Given the description of an element on the screen output the (x, y) to click on. 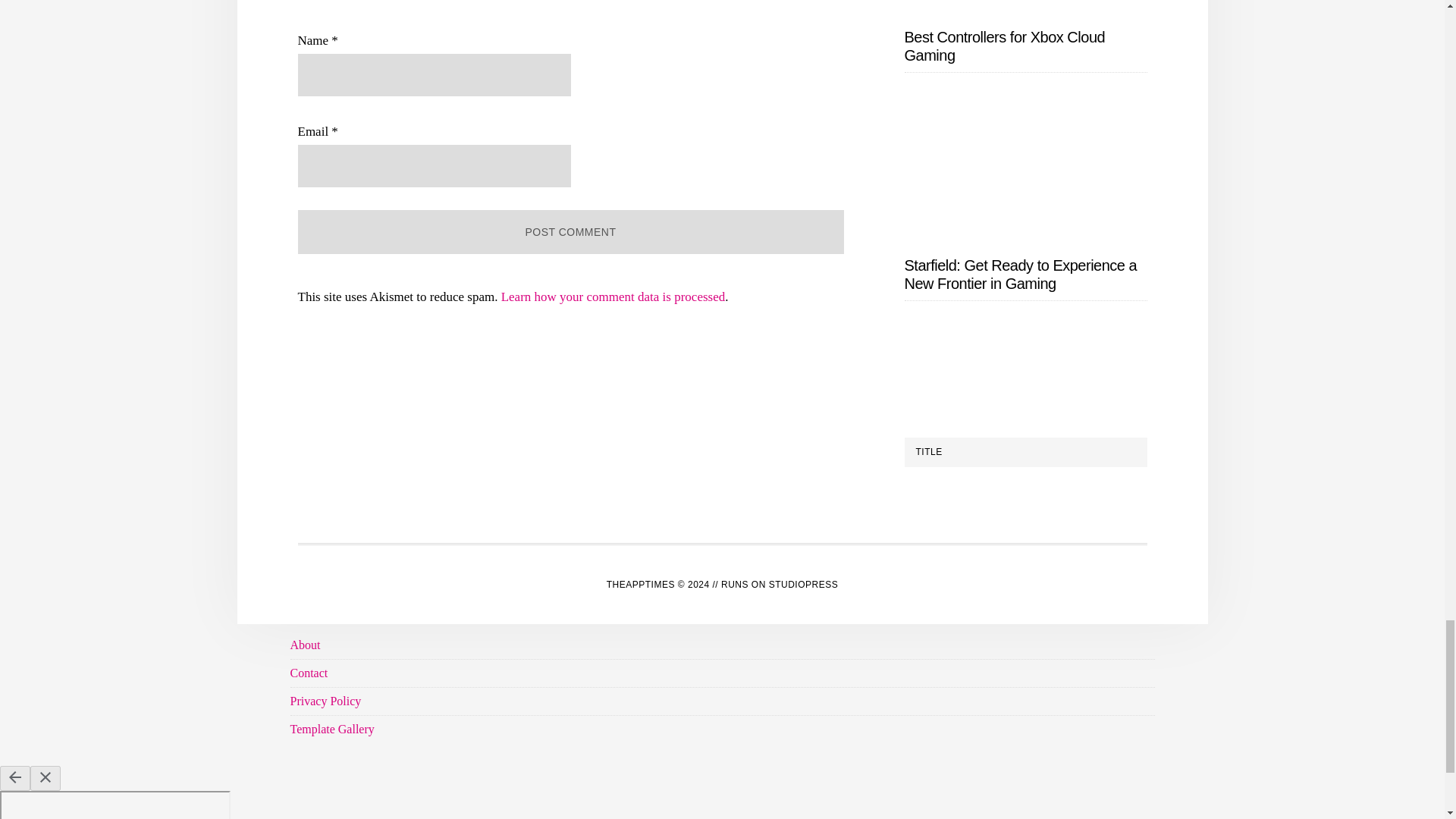
Learn how your comment data is processed (612, 296)
Post Comment (570, 231)
Post Comment (570, 231)
